Given the description of an element on the screen output the (x, y) to click on. 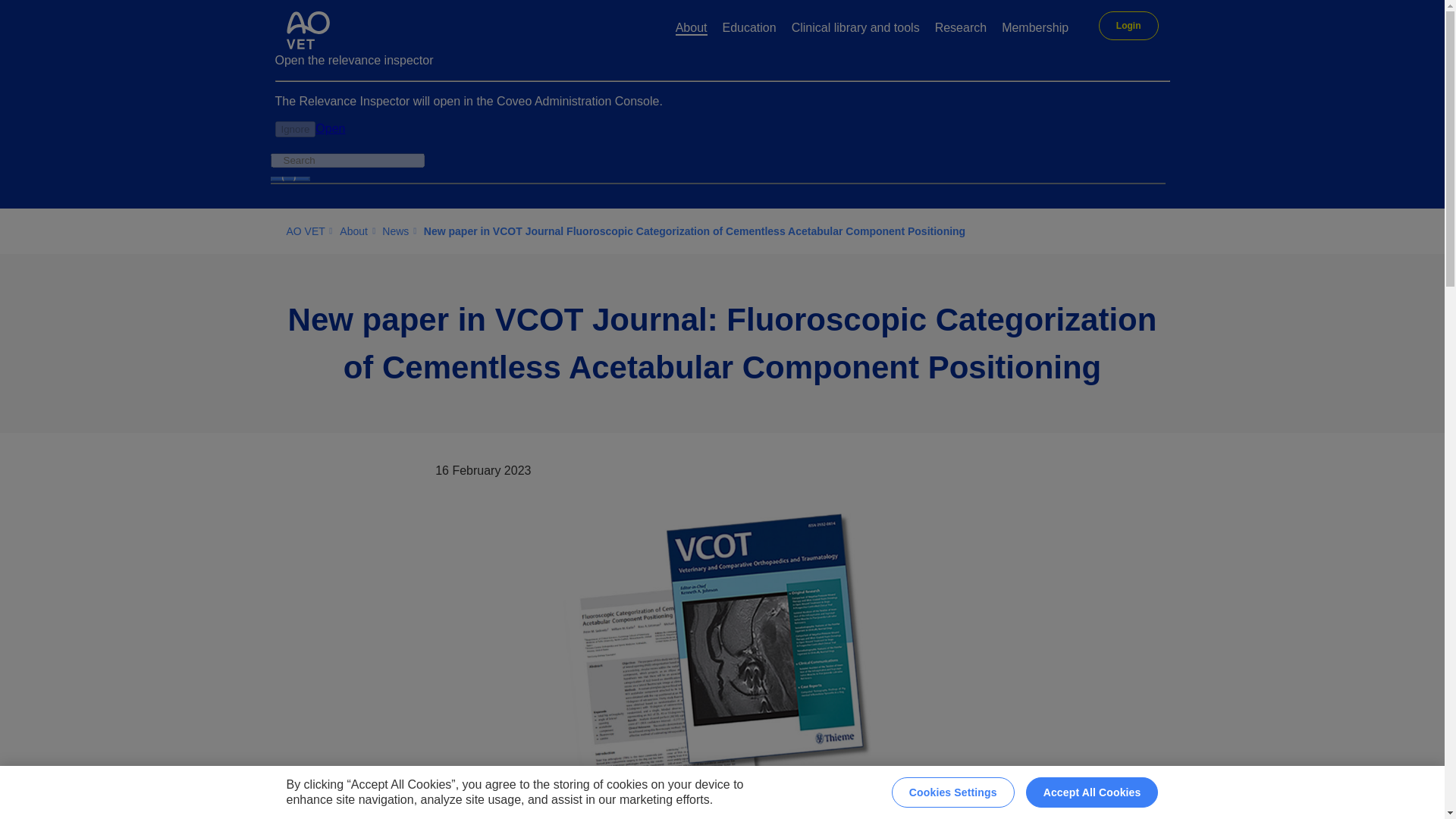
About AO VET (691, 28)
Clinical library and tools (856, 28)
Education (749, 28)
Education (749, 28)
Research (960, 28)
About (691, 28)
Membership (1034, 28)
